Given the description of an element on the screen output the (x, y) to click on. 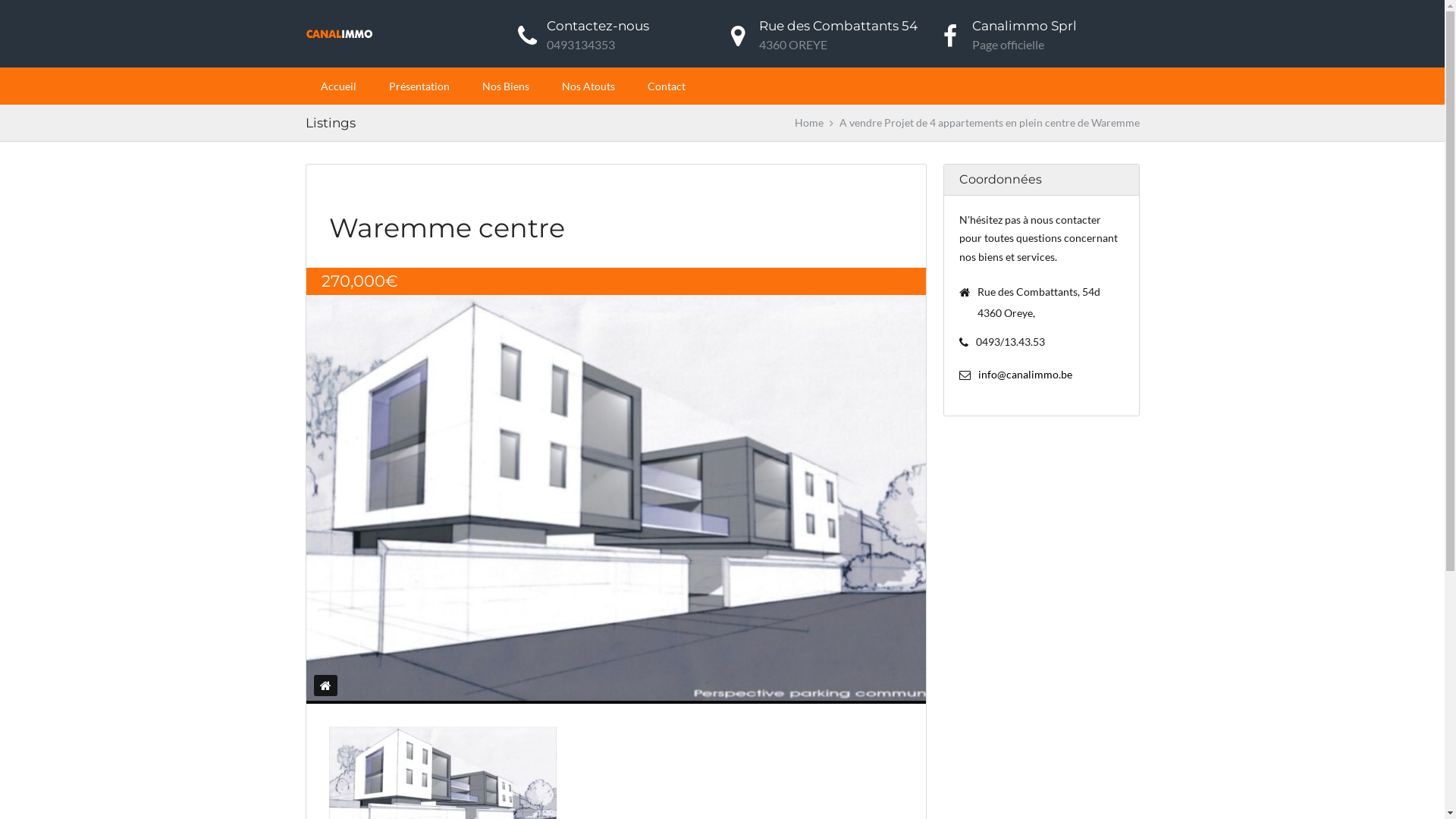
Nos Atouts Element type: text (587, 85)
Accueil Element type: text (337, 85)
Login Element type: text (678, 607)
Contact Element type: text (666, 85)
Nos Biens Element type: text (505, 85)
info@canalimmo.be Element type: text (1025, 373)
Home Element type: text (808, 122)
